Given the description of an element on the screen output the (x, y) to click on. 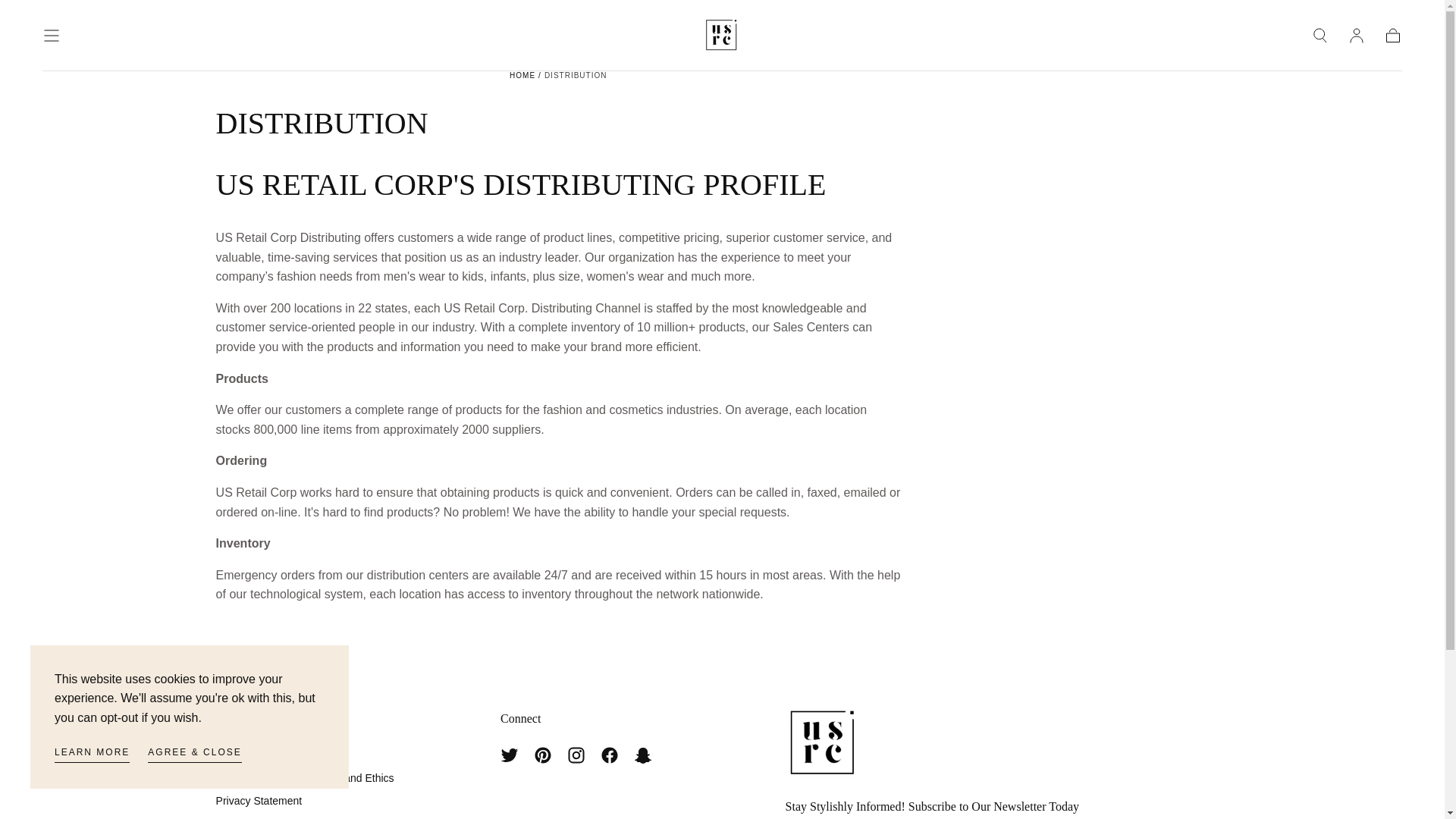
Code of Business Conduct and Ethics (304, 777)
Careers (304, 816)
Cart (1393, 35)
Skip to content (67, 18)
Privacy Statement (304, 800)
Sign in (1356, 35)
Press (304, 754)
USRC (825, 743)
HOME (522, 75)
LEARN MORE (92, 754)
